Given the description of an element on the screen output the (x, y) to click on. 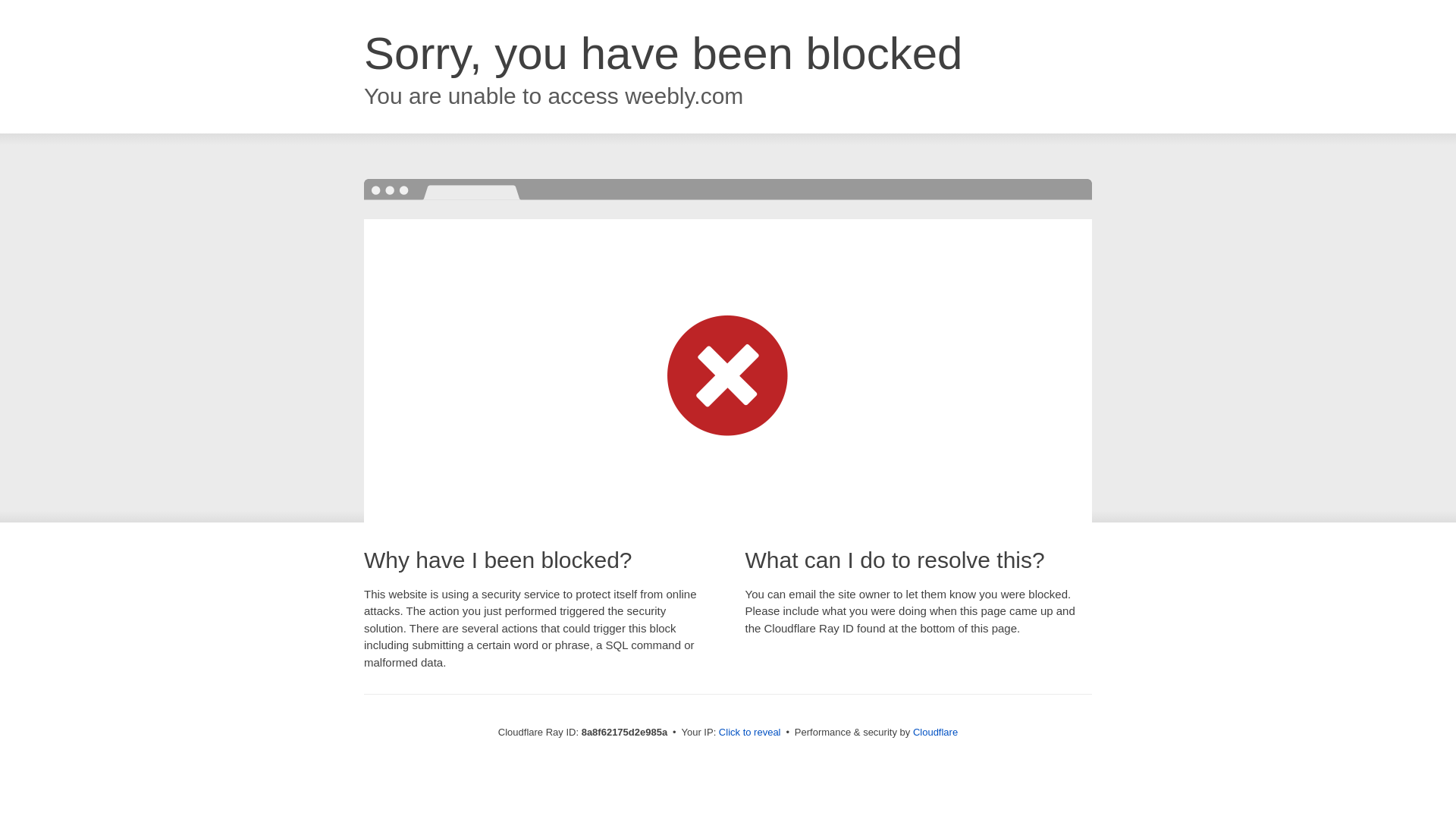
Click to reveal (749, 732)
Cloudflare (935, 731)
